Given the description of an element on the screen output the (x, y) to click on. 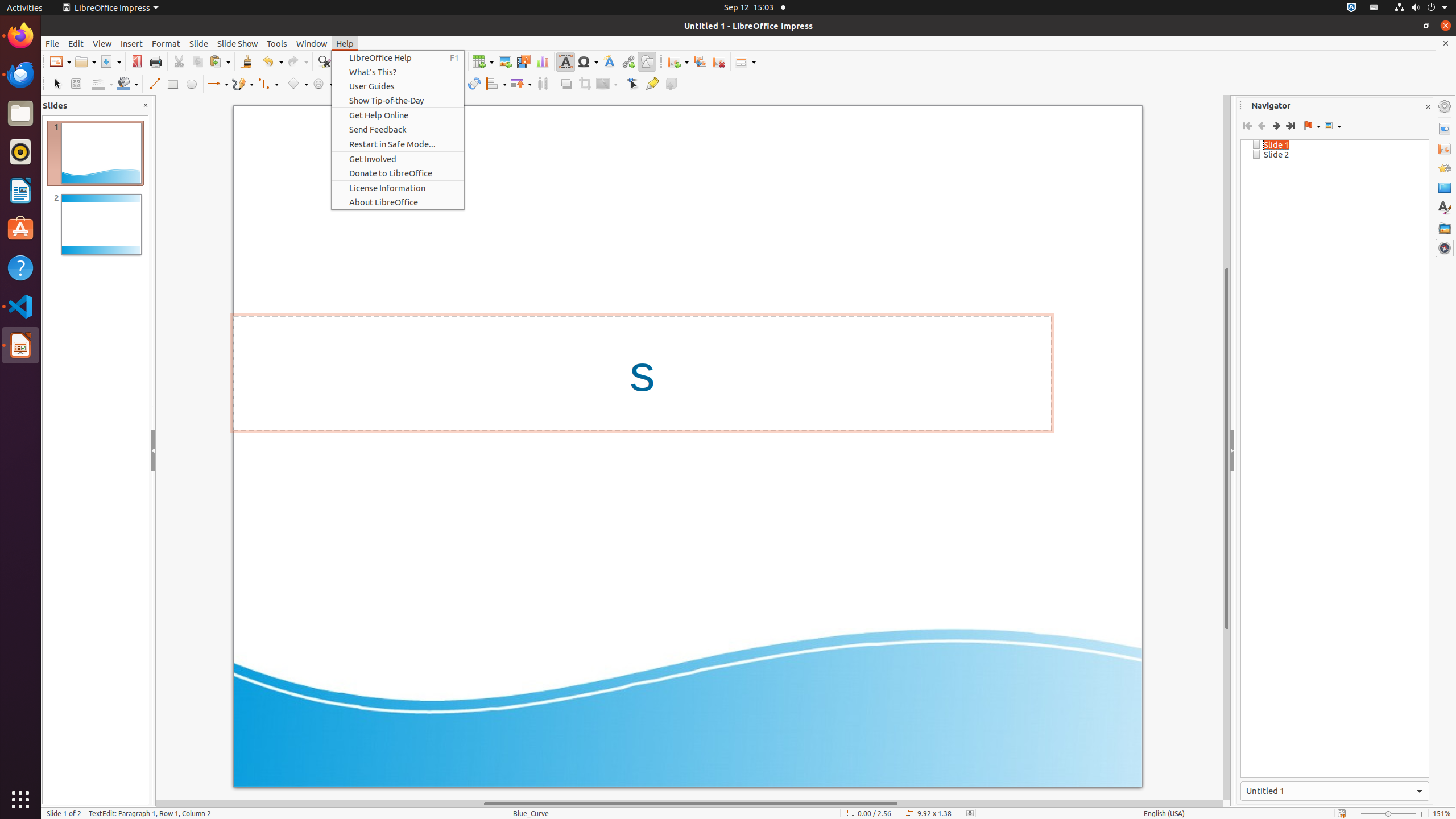
About LibreOffice Element type: menu-item (397, 202)
Select Element type: push-button (56, 83)
Master Slides Element type: radio-button (1444, 188)
